Given the description of an element on the screen output the (x, y) to click on. 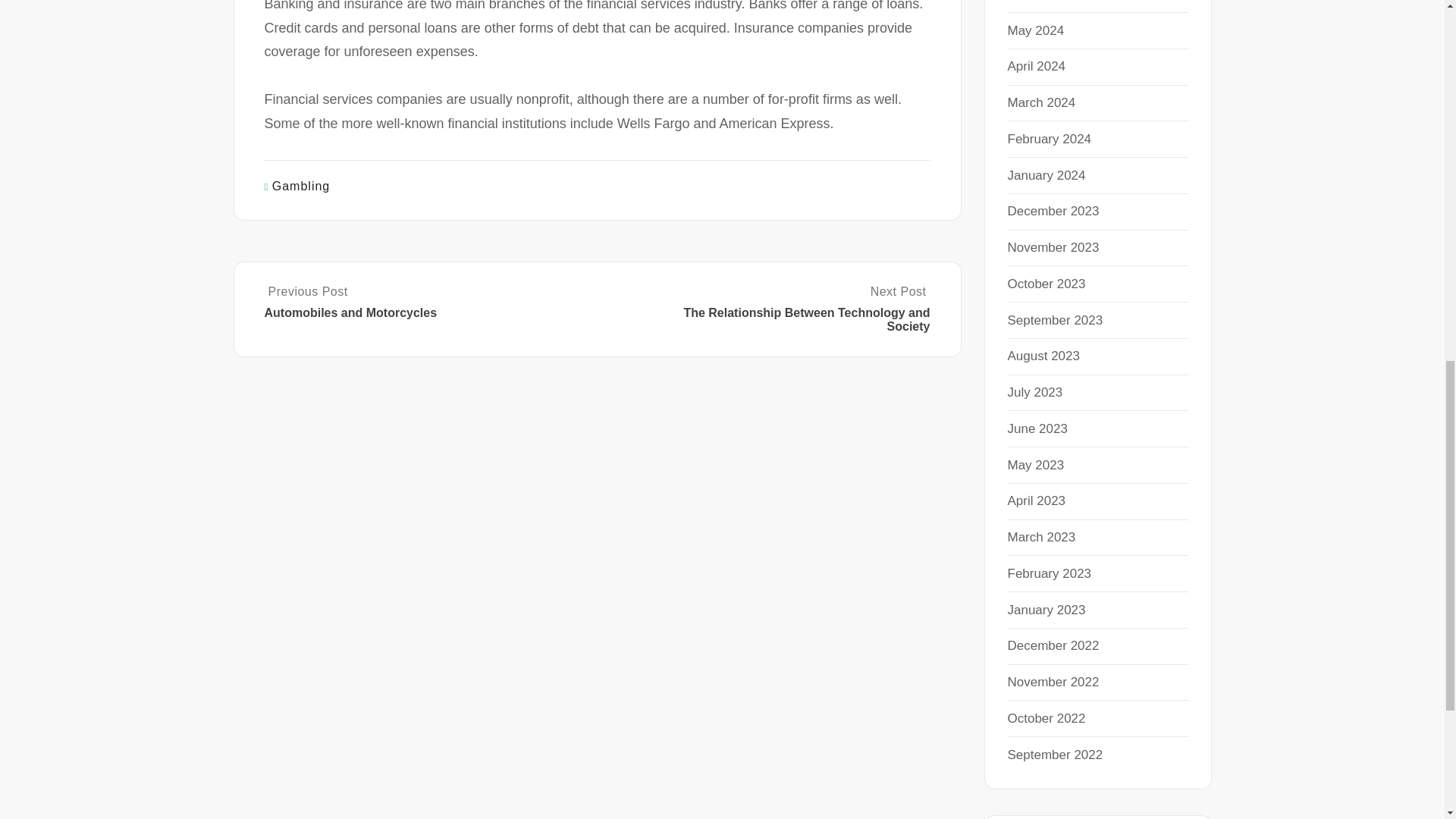
June 2023 (1037, 428)
October 2023 (1045, 283)
March 2024 (1041, 102)
June 2024 (1037, 0)
December 2023 (1053, 210)
February 2023 (1048, 573)
Gambling (301, 185)
January 2023 (1045, 608)
July 2023 (1034, 391)
August 2023 (1042, 355)
March 2023 (1041, 536)
February 2024 (1048, 138)
September 2023 (1054, 319)
